Given the description of an element on the screen output the (x, y) to click on. 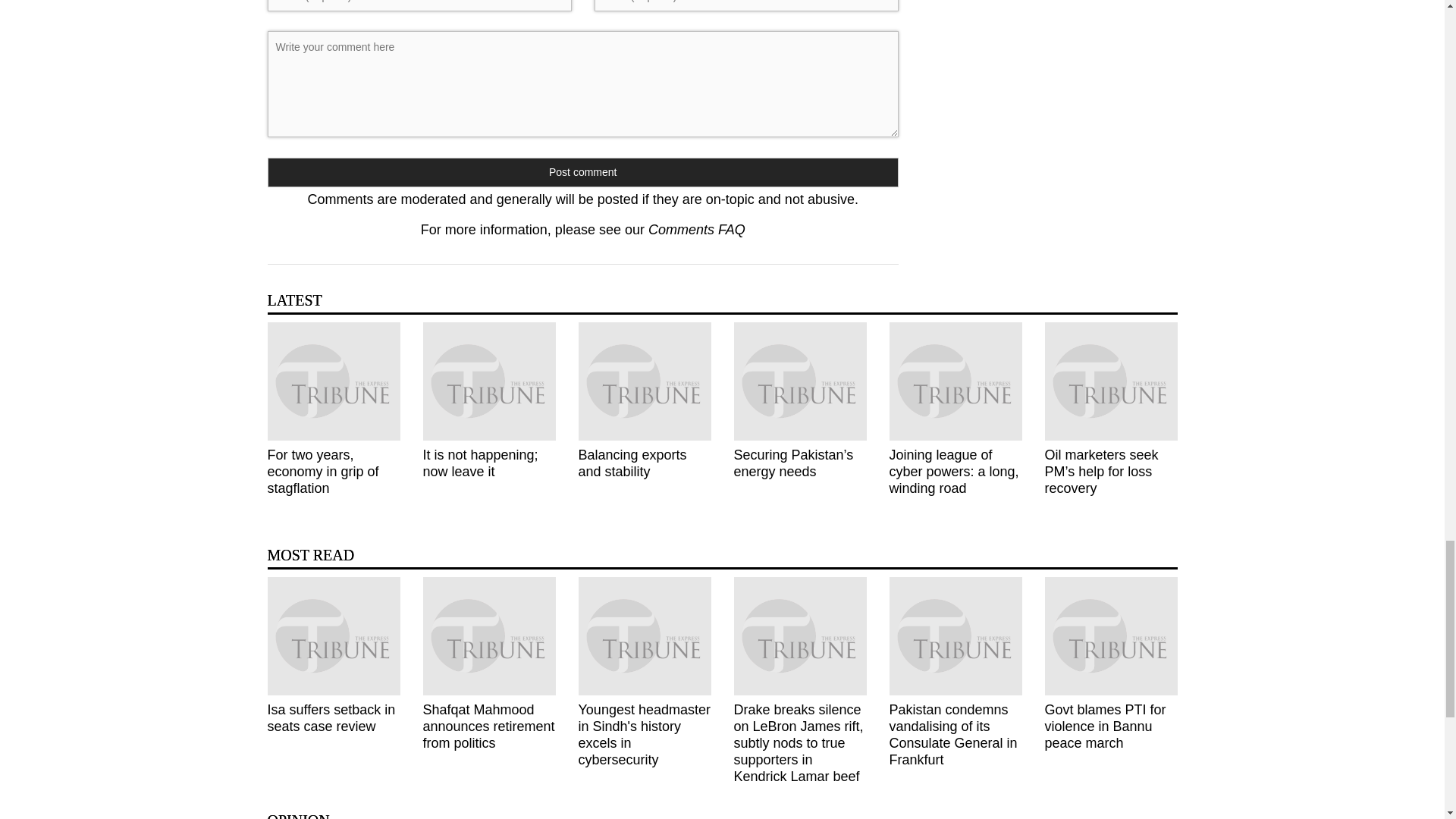
joining league of cyber powers a long winding road (955, 381)
it is not happening now leave it (489, 381)
for two years economy in grip of stagflation (332, 381)
balancing exports and stability (644, 381)
Comments FAQ (696, 229)
securing pakistan s energy needs (799, 381)
oil marketers seek pm s help for loss recovery (1111, 381)
govt blames pti for violence in bannu peace march (1111, 636)
shafqat mahmood announces retirement from politics (489, 636)
Post comment (582, 172)
Post comment (582, 172)
isa suffers setback in seats case review (332, 636)
